Given the description of an element on the screen output the (x, y) to click on. 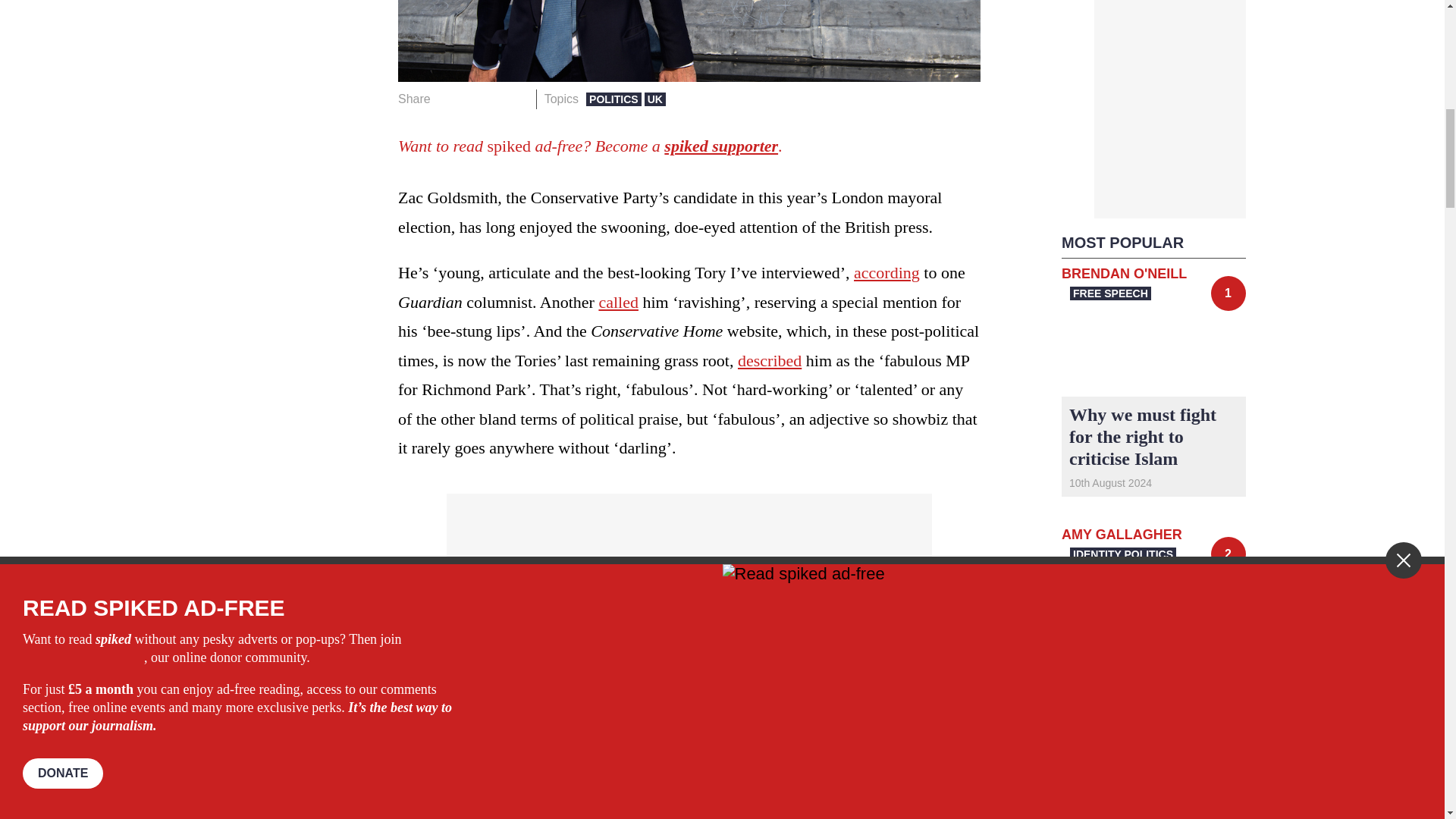
Share on Facebook (448, 98)
Share on Email (518, 98)
Share on Whatsapp (494, 98)
Share on Twitter (471, 98)
